Given the description of an element on the screen output the (x, y) to click on. 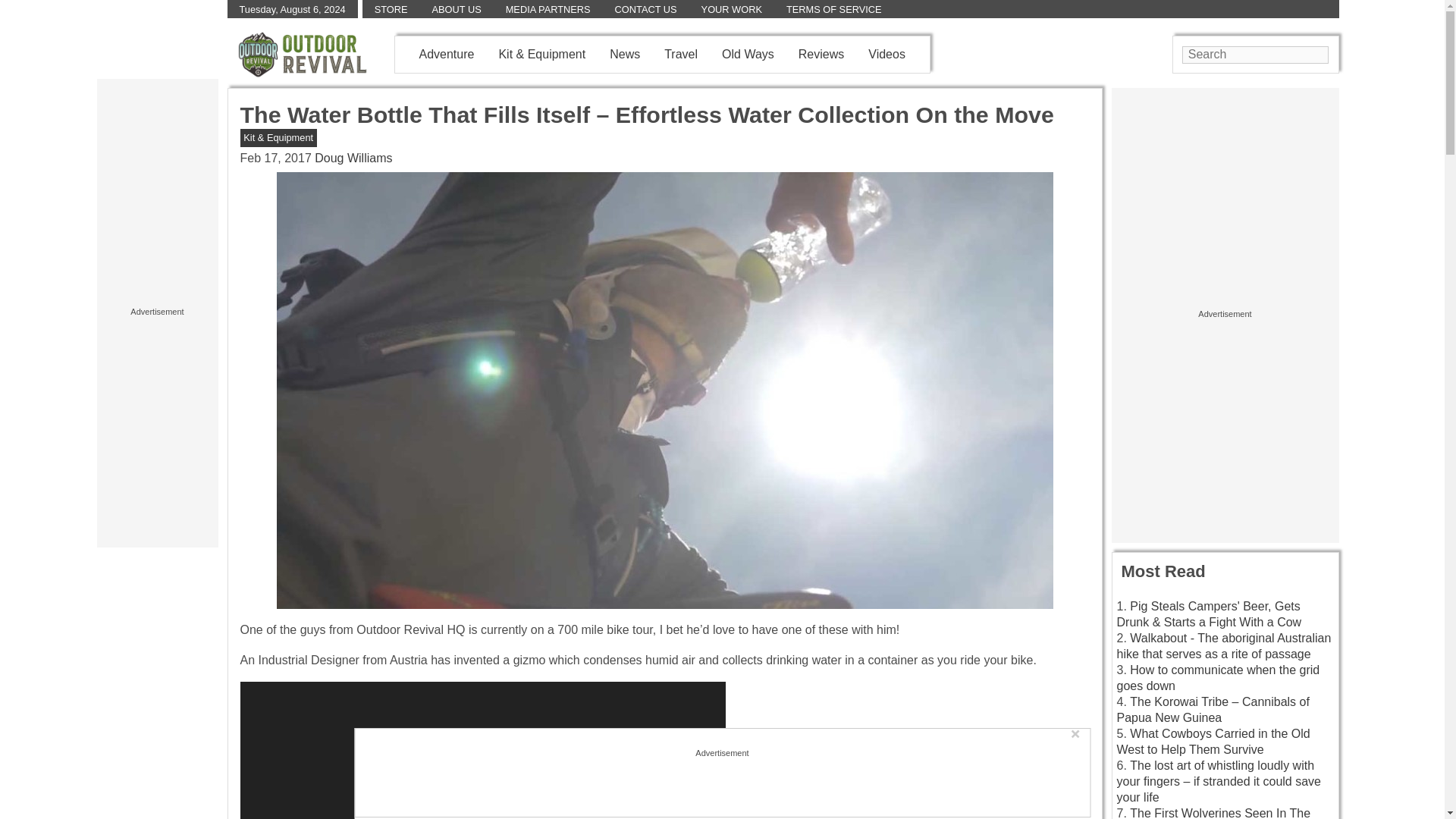
News (625, 53)
Doug Williams (352, 157)
Adventure (446, 53)
ABOUT US (456, 9)
What Cowboys Carried in the Old West to Help Them Survive (1212, 741)
Travel (680, 53)
Old Ways (748, 53)
STORE (390, 9)
Reviews (820, 53)
Videos (886, 53)
How to communicate when the grid goes down (1217, 677)
TERMS OF SERVICE (834, 9)
CONTACT US (645, 9)
MEDIA PARTNERS (548, 9)
